Given the description of an element on the screen output the (x, y) to click on. 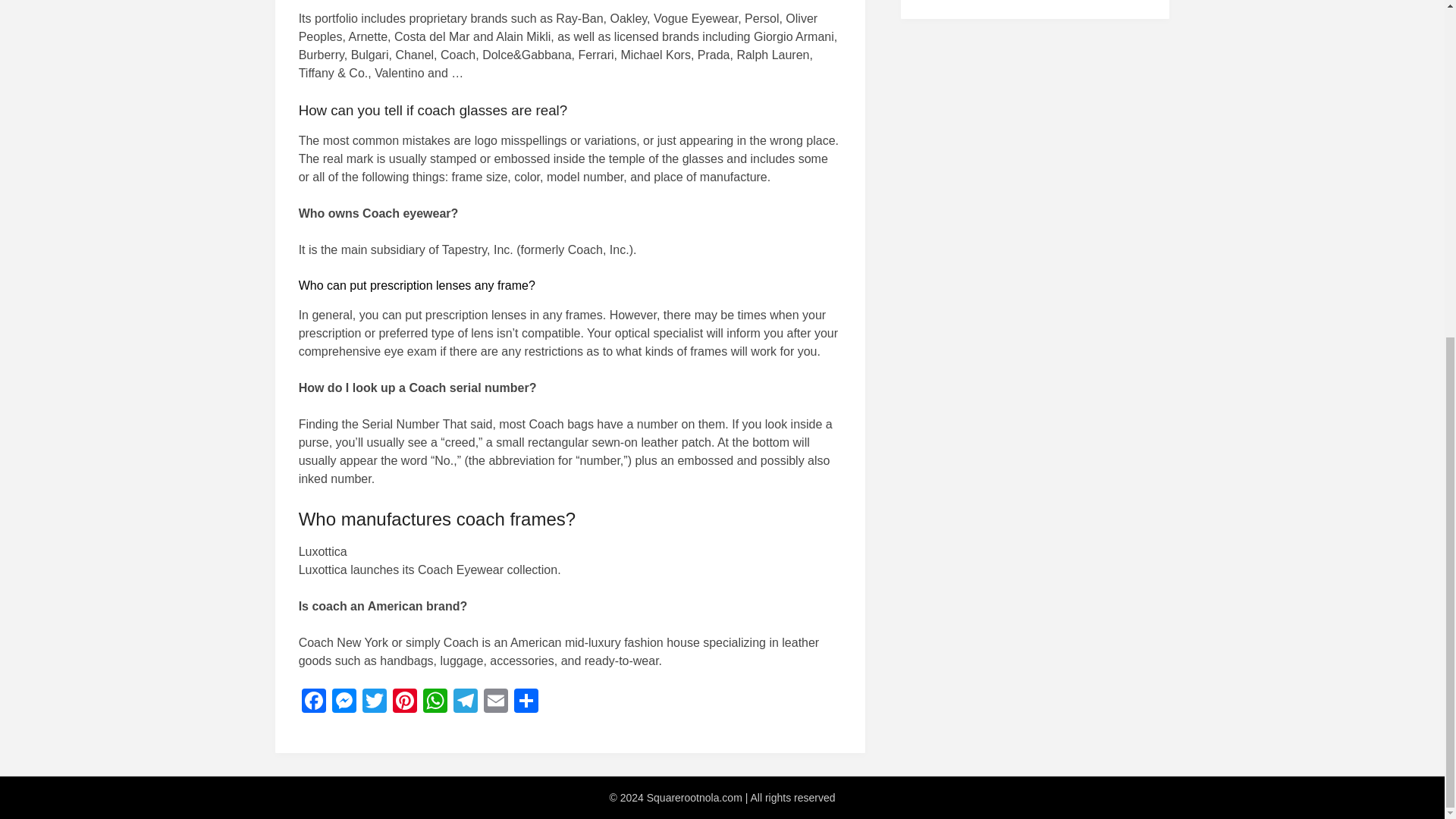
Telegram (464, 702)
Facebook (313, 702)
Email (495, 702)
Messenger (344, 702)
Telegram (464, 702)
Twitter (374, 702)
Email (495, 702)
Messenger (344, 702)
WhatsApp (434, 702)
WhatsApp (434, 702)
